Given the description of an element on the screen output the (x, y) to click on. 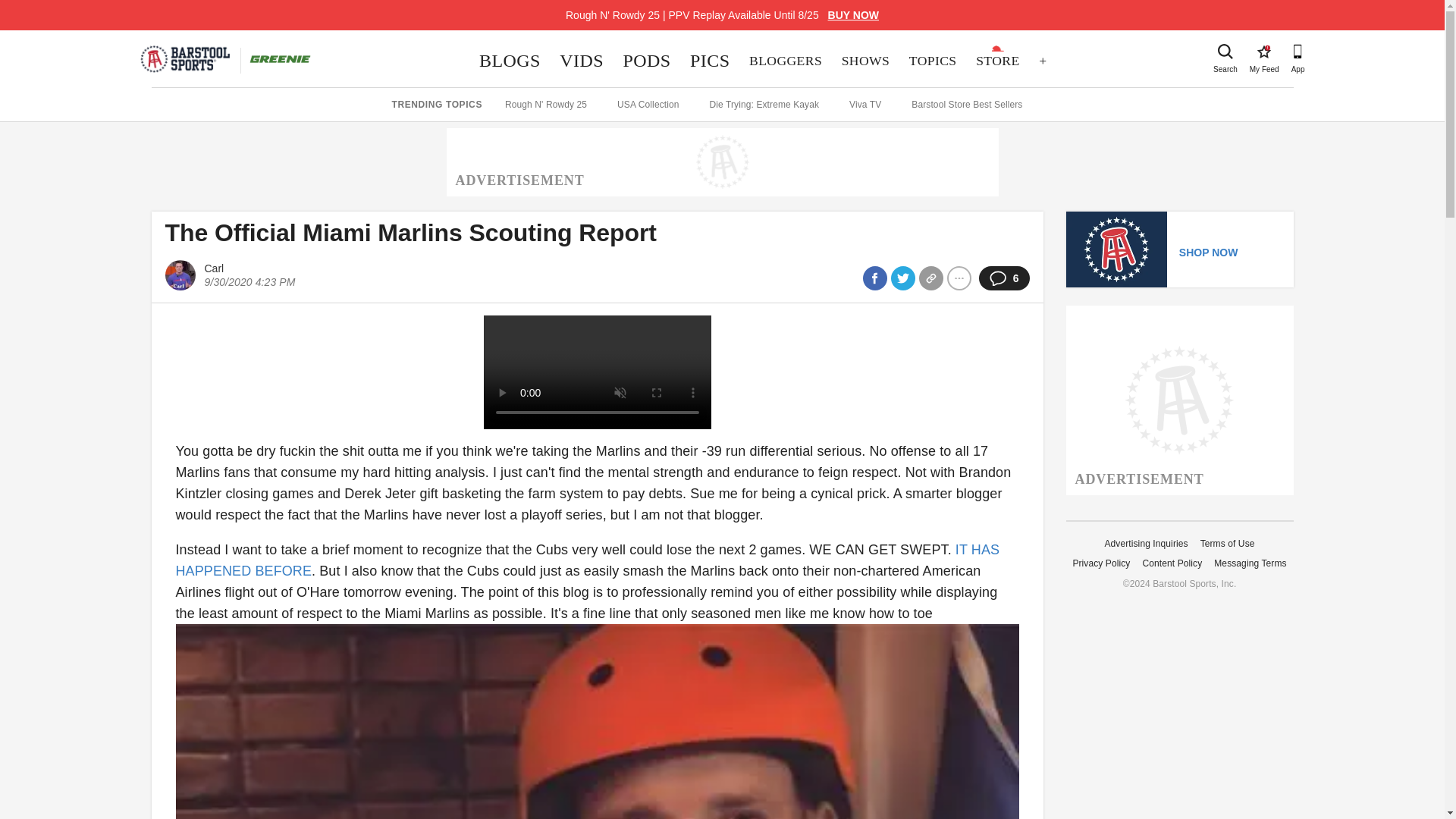
BUY NOW (853, 15)
TOPICS (932, 60)
PODS (646, 60)
Search (1225, 51)
PICS (709, 60)
VIDS (581, 60)
BLOGS (509, 60)
STORE (997, 60)
SHOWS (1263, 51)
